Given the description of an element on the screen output the (x, y) to click on. 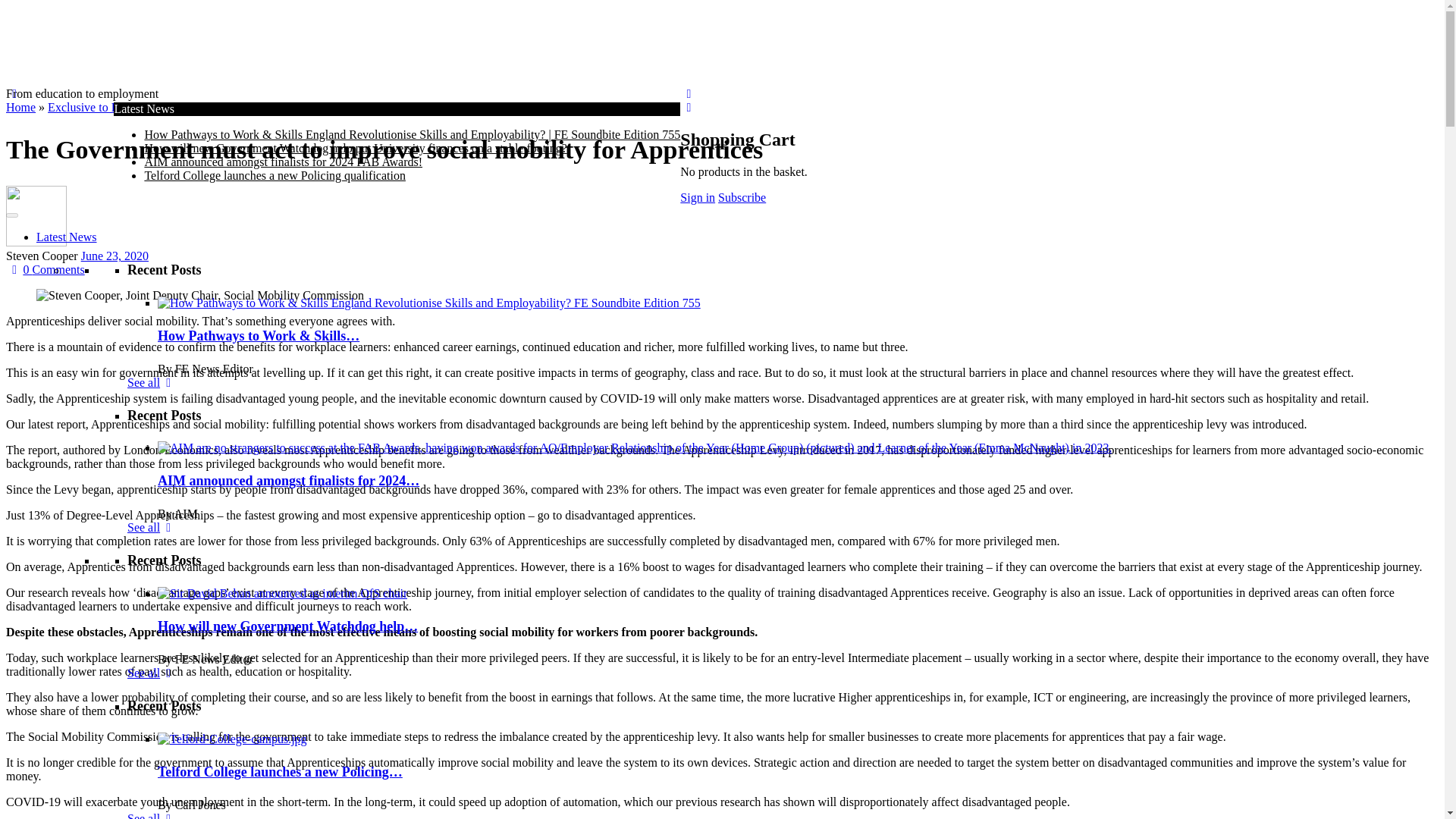
See all (152, 526)
See all (152, 815)
See all (152, 672)
Telford College launches a new Policing qualification (275, 174)
Sign in (696, 196)
See all (152, 382)
Latest News (66, 236)
Subscribe (741, 196)
AIM announced amongst finalists for 2024 FAB Awards! (283, 161)
